Given the description of an element on the screen output the (x, y) to click on. 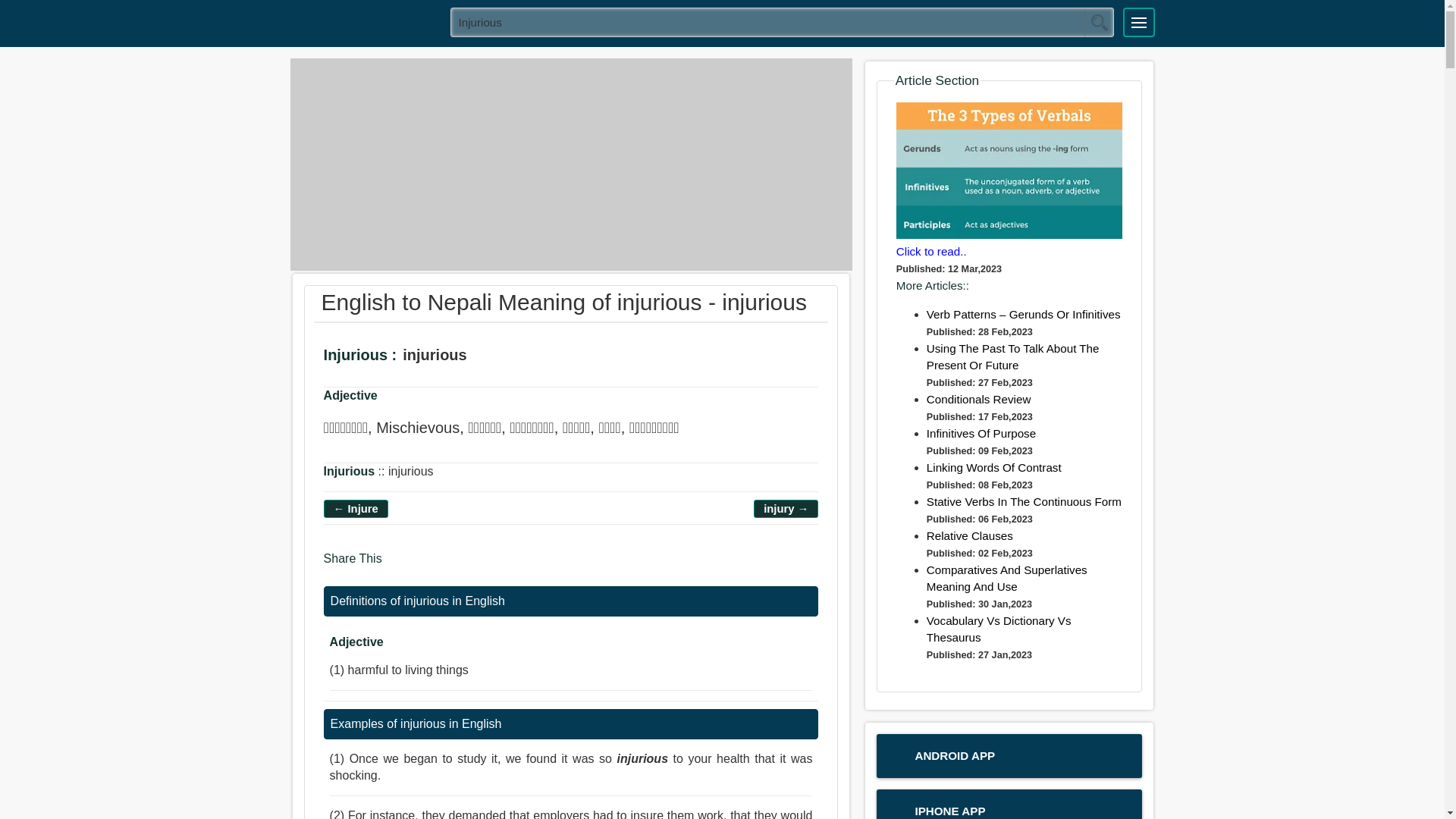
Advertisement (570, 164)
English to Nepali meaning of injure (355, 508)
Say The Word (492, 357)
injurious (782, 21)
English to Nepali meaning of injury (785, 508)
Add To Favorites (534, 357)
Linkedin (458, 565)
NEPALI (365, 20)
Facebook (398, 565)
Search (1098, 22)
